Given the description of an element on the screen output the (x, y) to click on. 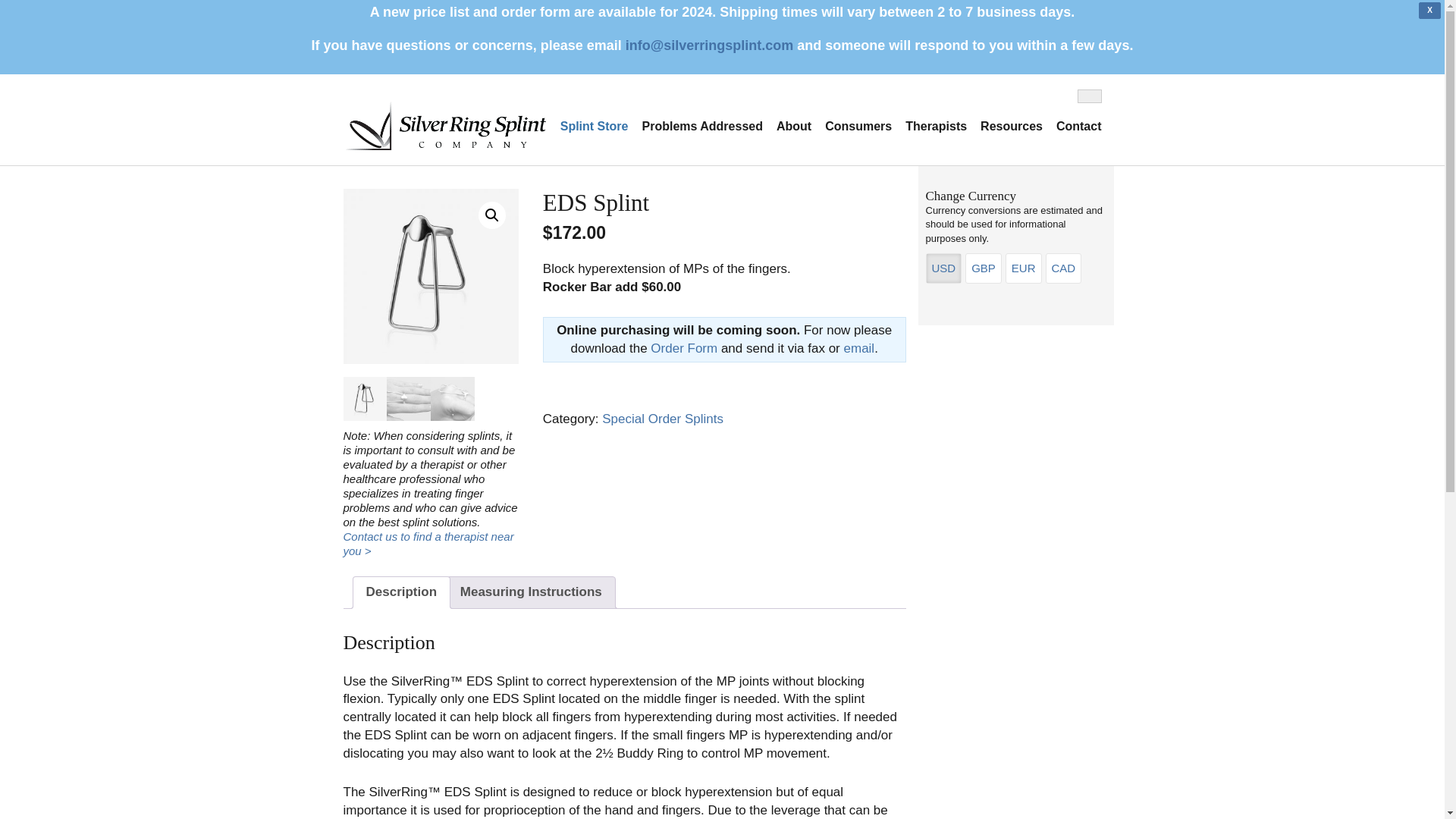
Splint Store (593, 130)
Consumers (858, 130)
Resources (1011, 130)
Original price:172 (574, 232)
Contact (1075, 130)
About (794, 130)
Visit Homepage (443, 119)
Therapists (936, 130)
Problems Addressed (701, 130)
